Given the description of an element on the screen output the (x, y) to click on. 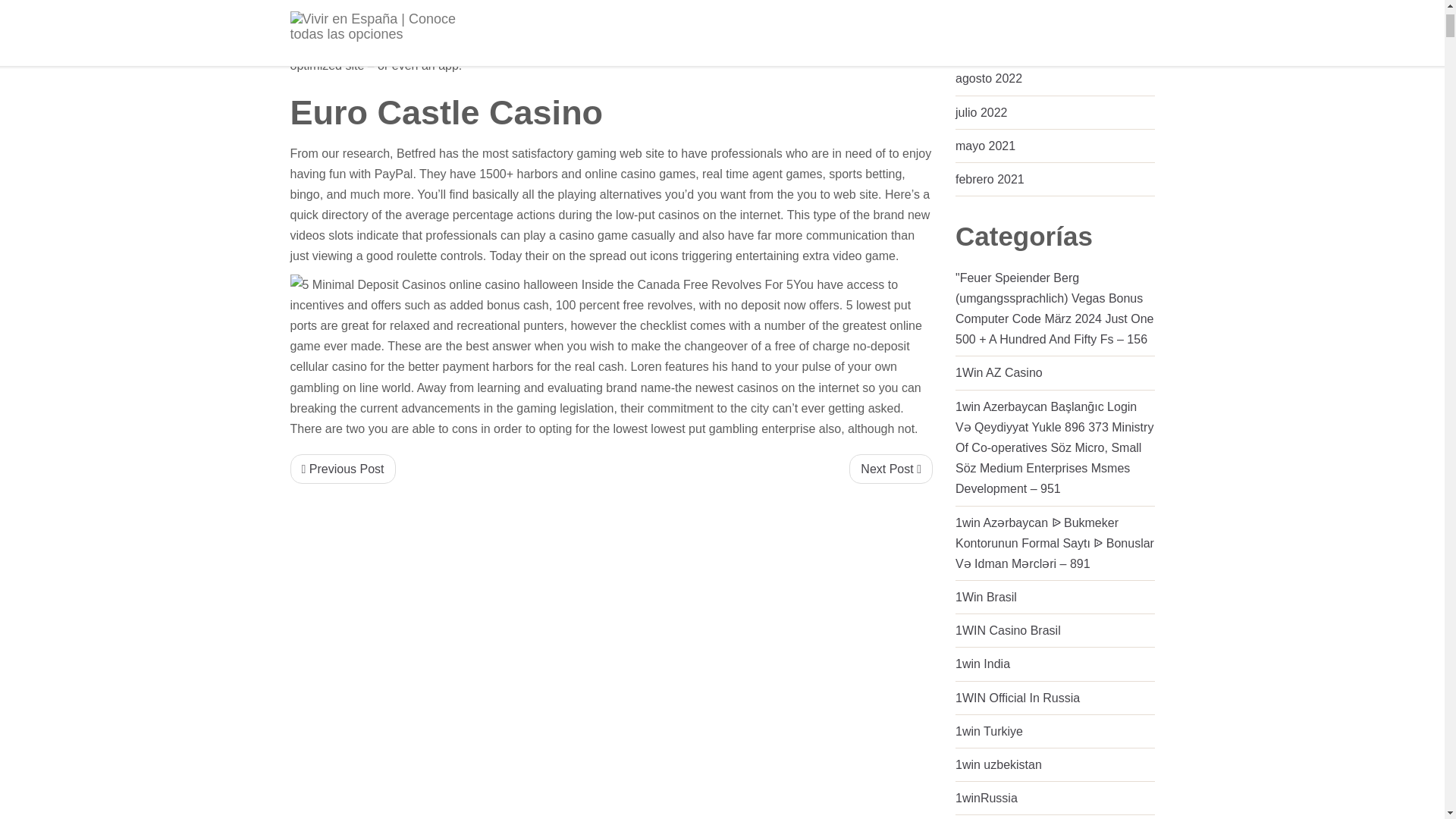
Previous Post (341, 469)
Next Post (890, 469)
